Given the description of an element on the screen output the (x, y) to click on. 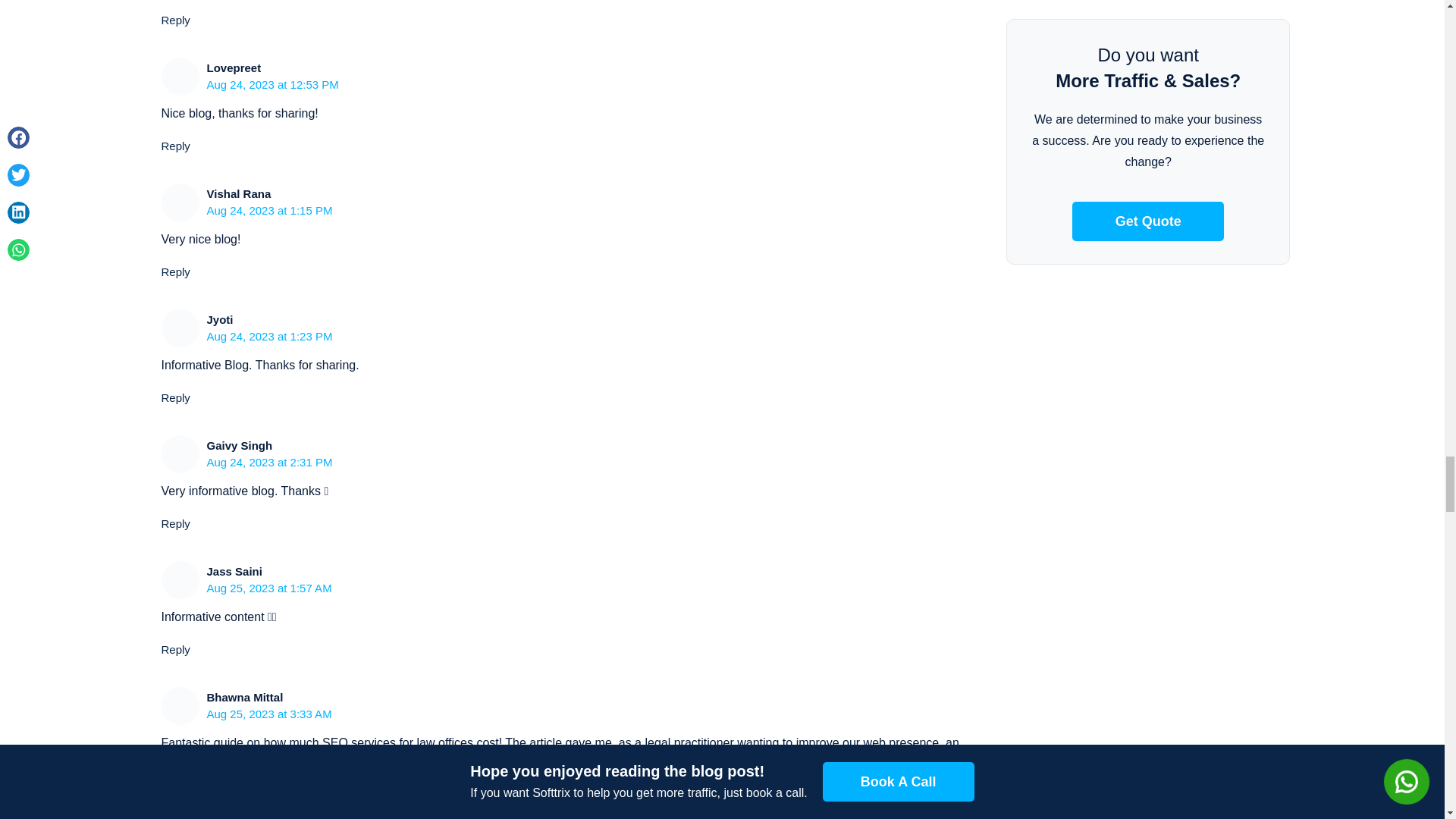
Reply (174, 145)
Reply (174, 649)
Reply (174, 397)
Reply (174, 19)
Reply (174, 271)
Reply (174, 522)
Reply (174, 796)
